Given the description of an element on the screen output the (x, y) to click on. 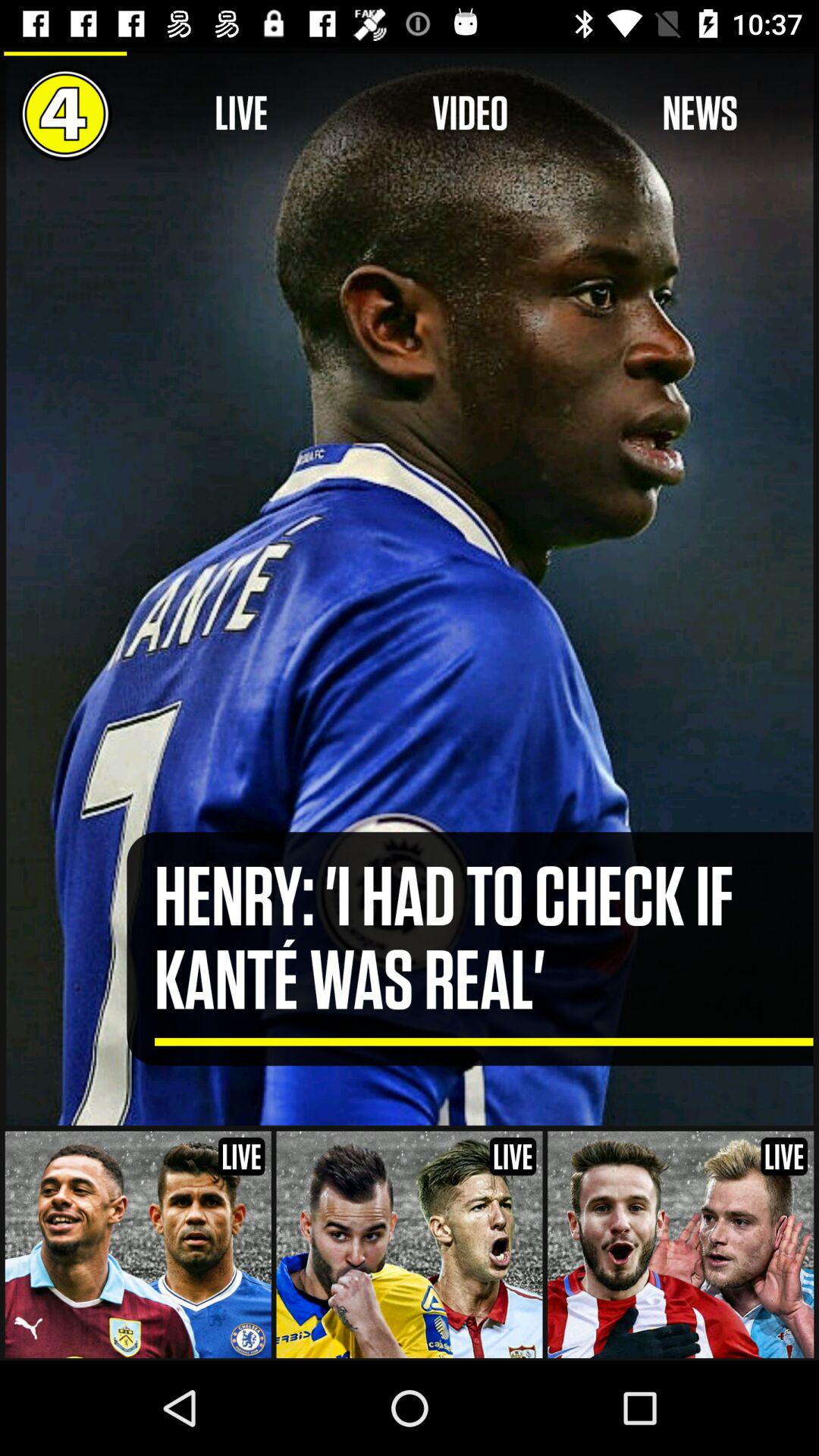
flip until the video item (470, 113)
